Given the description of an element on the screen output the (x, y) to click on. 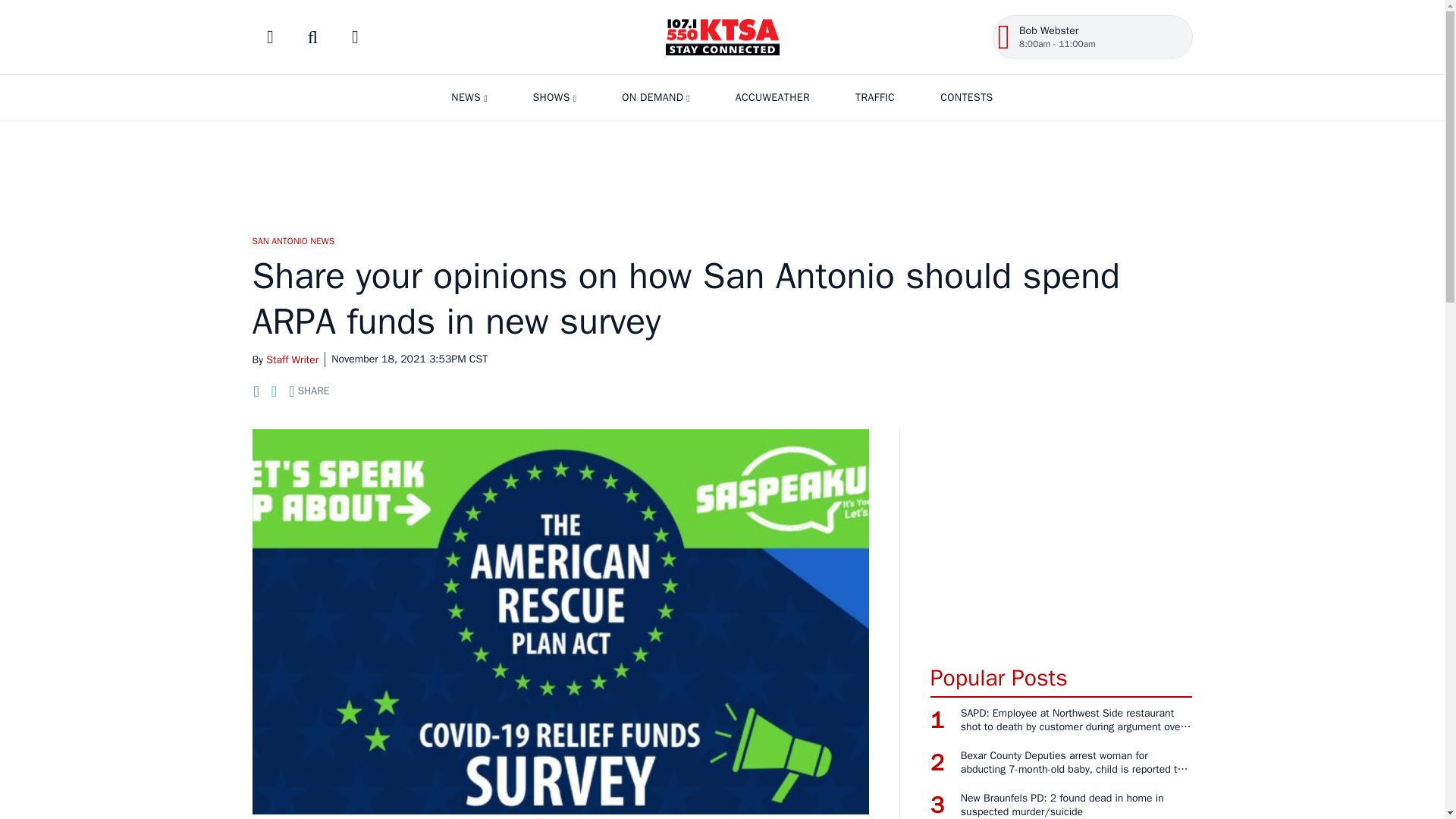
3rd party ad content (1060, 538)
3rd party ad content (721, 170)
